Given the description of an element on the screen output the (x, y) to click on. 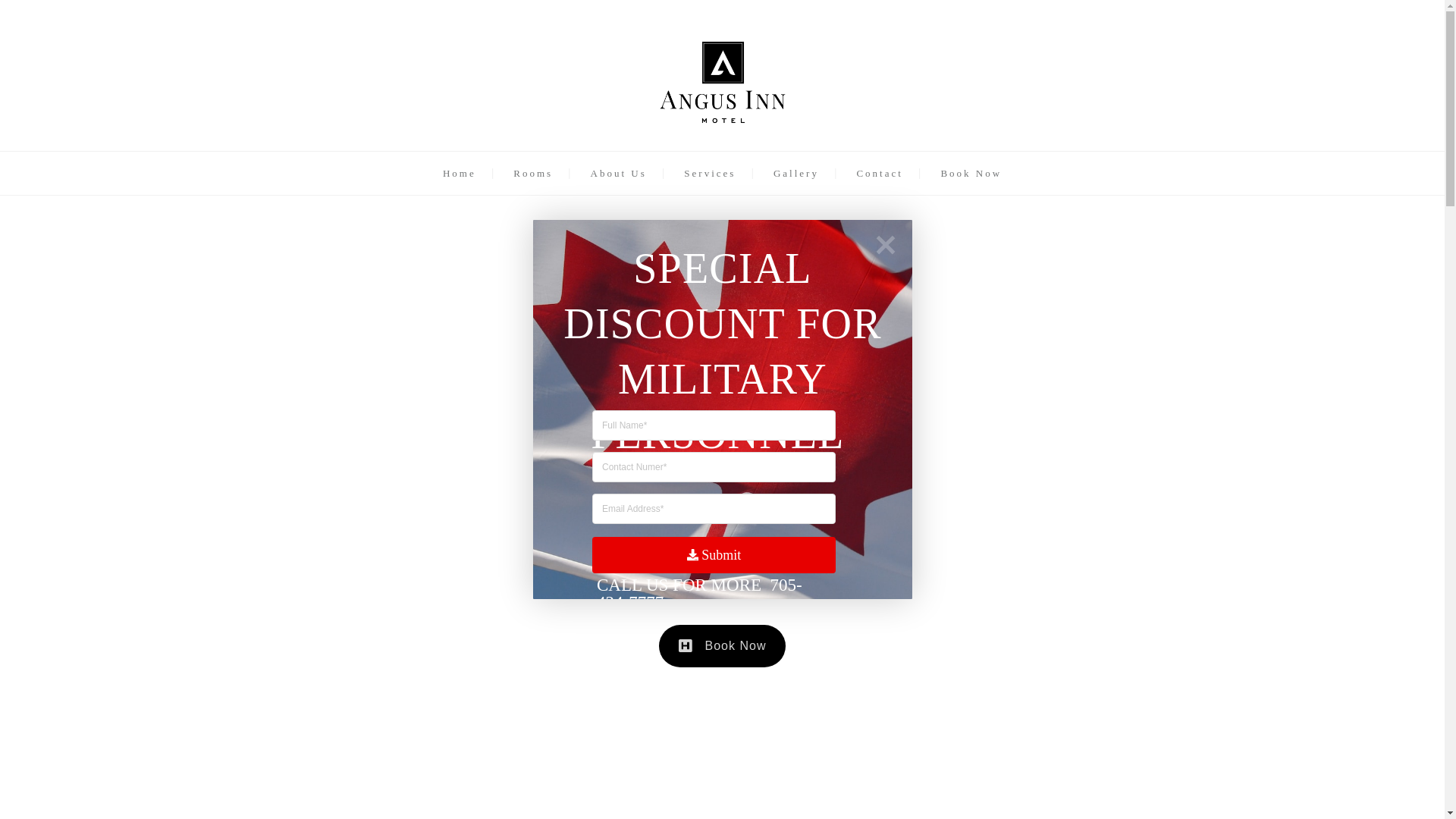
Gallery Element type: text (796, 172)
Submit Element type: text (712, 554)
Book Now Element type: text (722, 645)
Rooms Element type: text (532, 172)
Services Element type: text (709, 172)
Book Now Element type: text (970, 172)
About Us Element type: text (618, 172)
Home Element type: text (459, 172)
Contact Element type: text (879, 172)
